Given the description of an element on the screen output the (x, y) to click on. 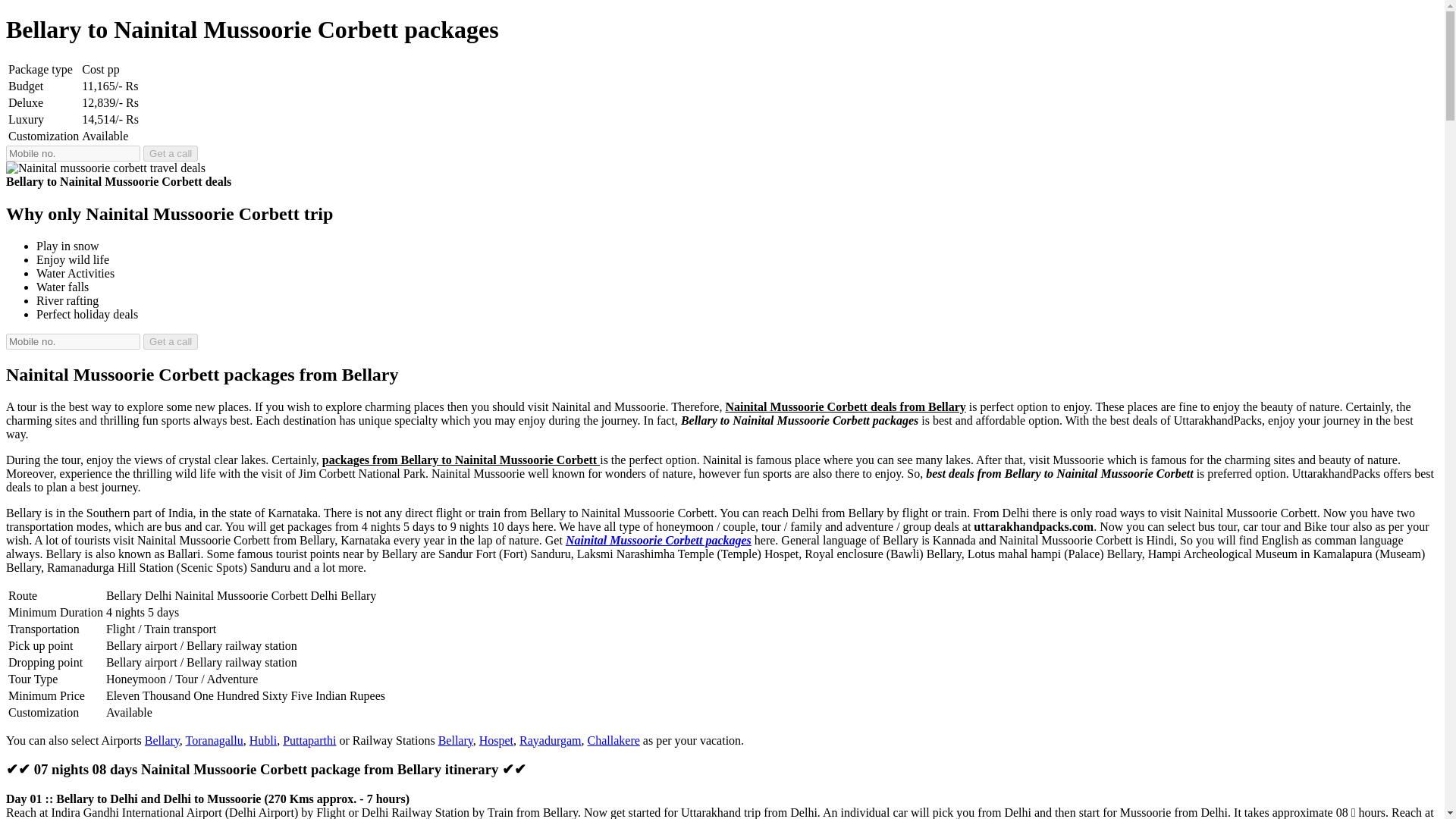
Hospet (496, 739)
Bellary (161, 739)
Get a call (170, 341)
Bellary (455, 739)
Hubli (262, 739)
Challakere (614, 739)
Toranagallu (214, 739)
Get a call (170, 153)
Rayadurgam (549, 739)
Get a call (170, 341)
Enter your Mo. no. only digits (72, 341)
Enter your Mo. no. only digits (72, 153)
Nainital Mussoorie Corbett packages (658, 540)
Puttaparthi (309, 739)
Get a call (170, 153)
